Given the description of an element on the screen output the (x, y) to click on. 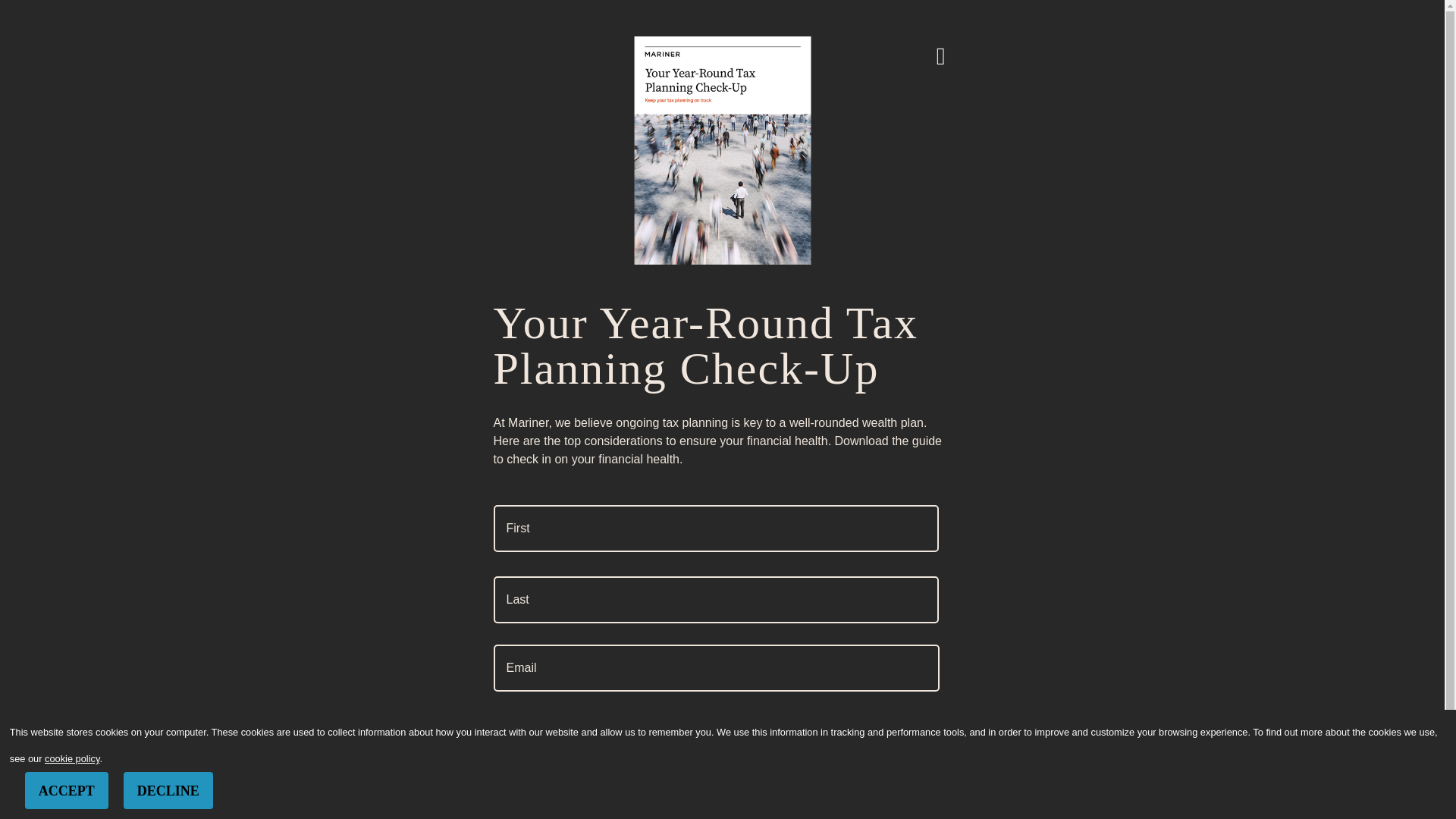
INSIGHTS (969, 49)
LOCATIONS (1043, 49)
WHO WE ARE (891, 49)
OUR SERVICES (723, 49)
Email (307, 441)
Careers (1203, 9)
800-384-1756 (1417, 9)
913-378-9145 (387, 480)
Call (307, 489)
CONTACT MARK (387, 378)
Client Login (1140, 9)
OUR TEAM (809, 49)
Download Now (576, 801)
